Given the description of an element on the screen output the (x, y) to click on. 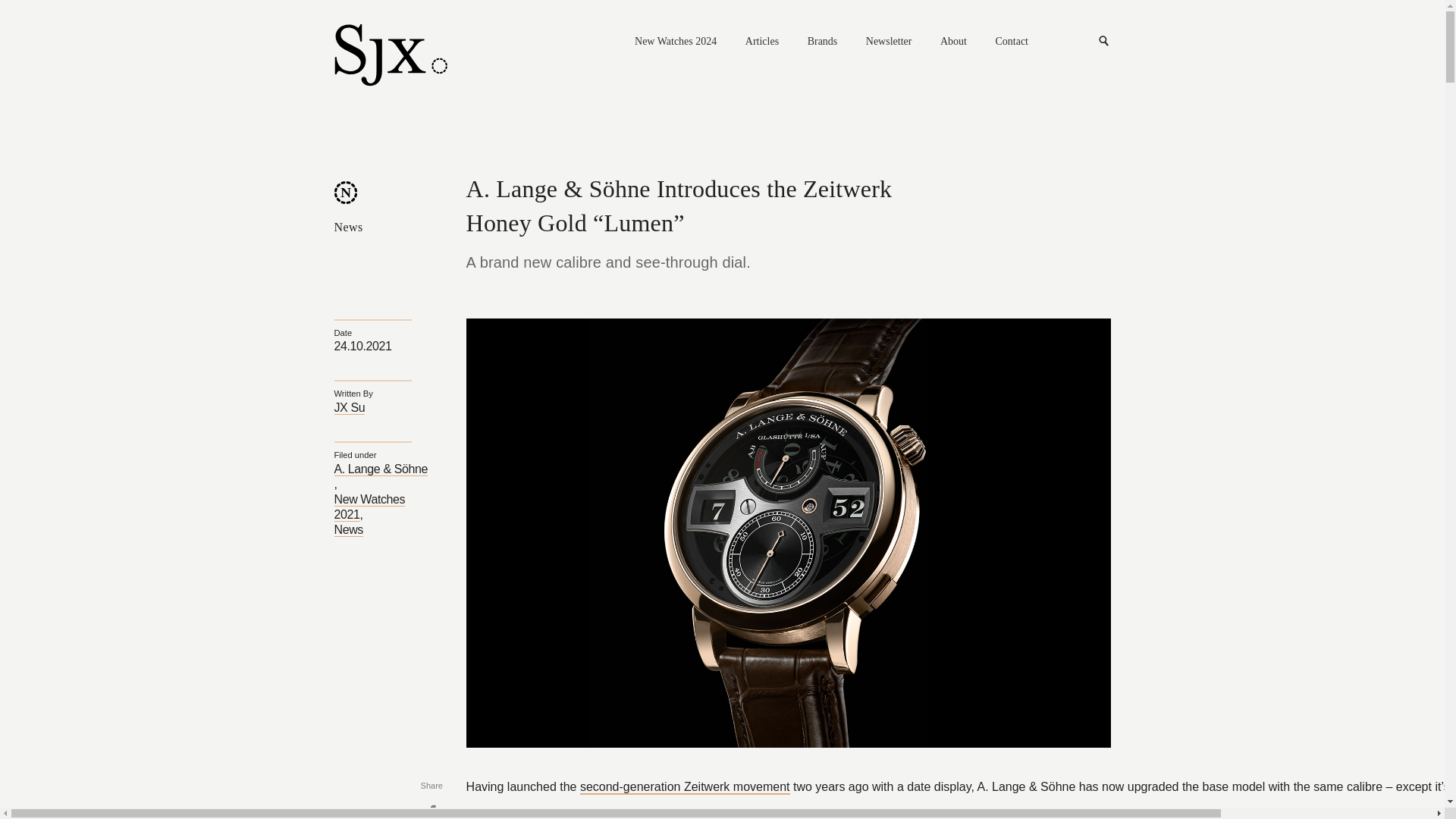
Articles (762, 42)
Newsletter (889, 42)
Search (1103, 40)
About (953, 42)
Brands (823, 42)
New Watches 2024 (675, 42)
Posts by JX Su (349, 407)
Contact (1010, 42)
